Given the description of an element on the screen output the (x, y) to click on. 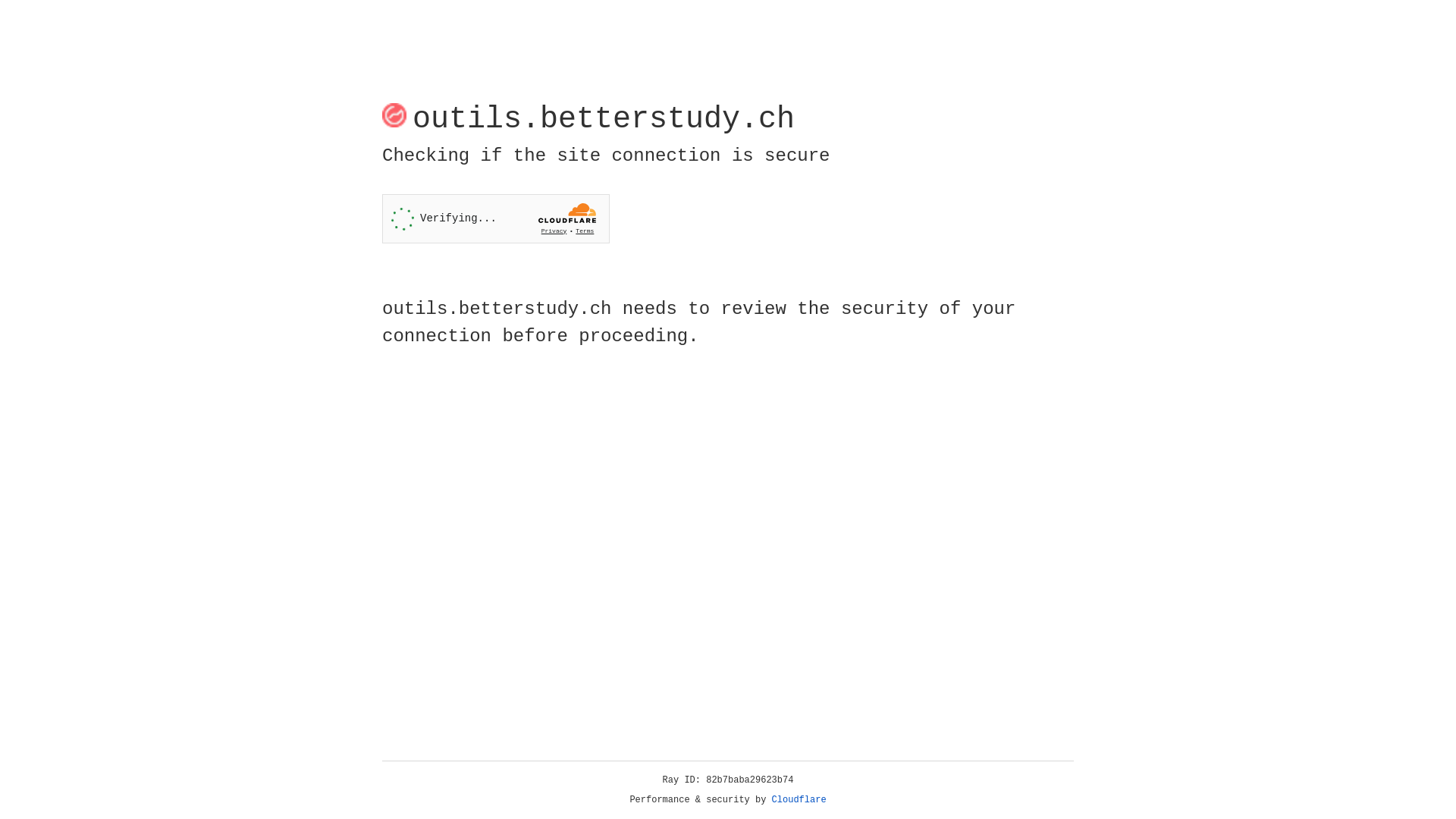
Widget containing a Cloudflare security challenge Element type: hover (495, 218)
Cloudflare Element type: text (798, 799)
